Given the description of an element on the screen output the (x, y) to click on. 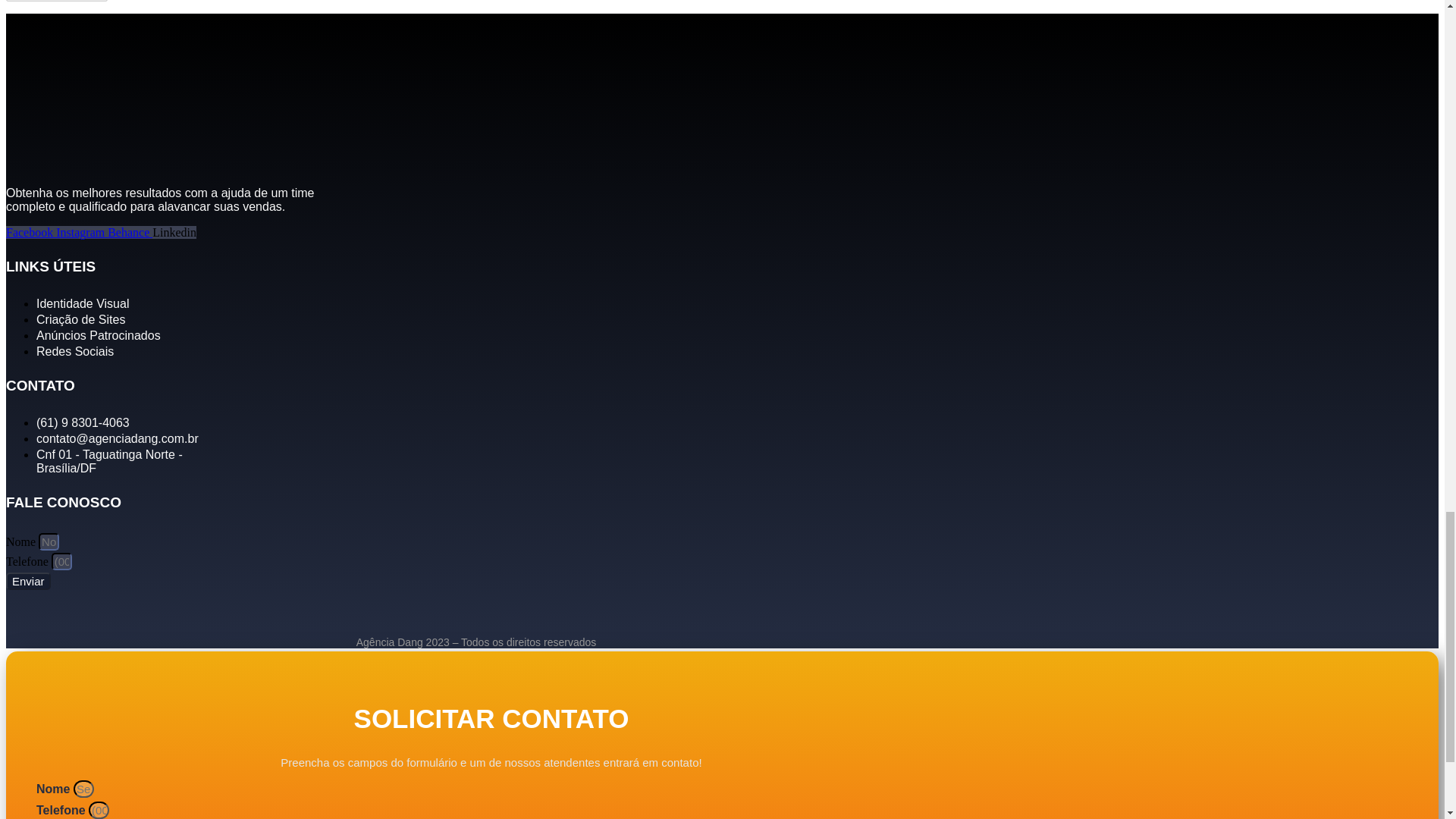
Facebook (30, 232)
Enviar (27, 580)
Linkedin (174, 232)
Behance (129, 232)
Instagram (81, 232)
